Given the description of an element on the screen output the (x, y) to click on. 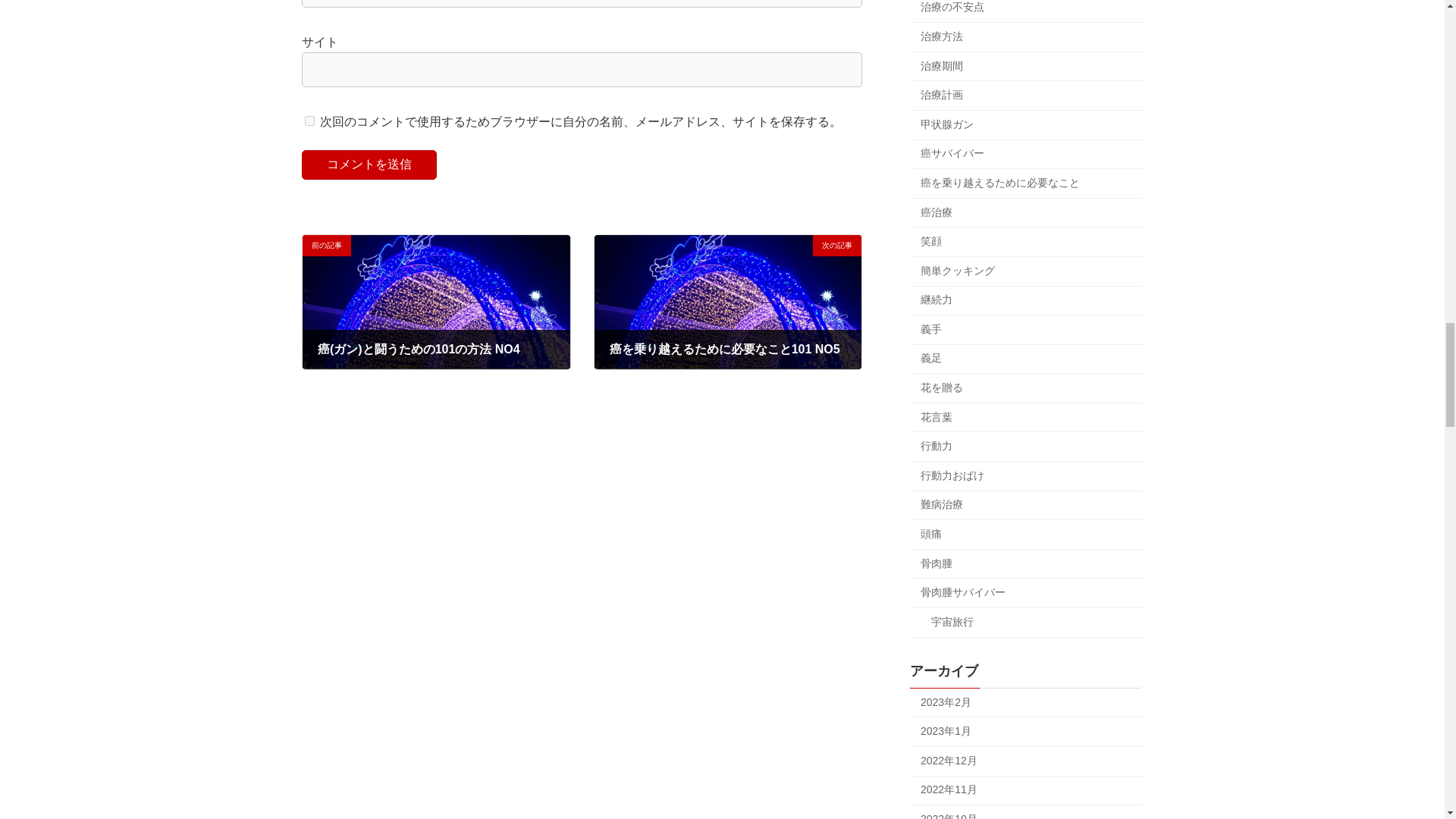
yes (309, 121)
